Given the description of an element on the screen output the (x, y) to click on. 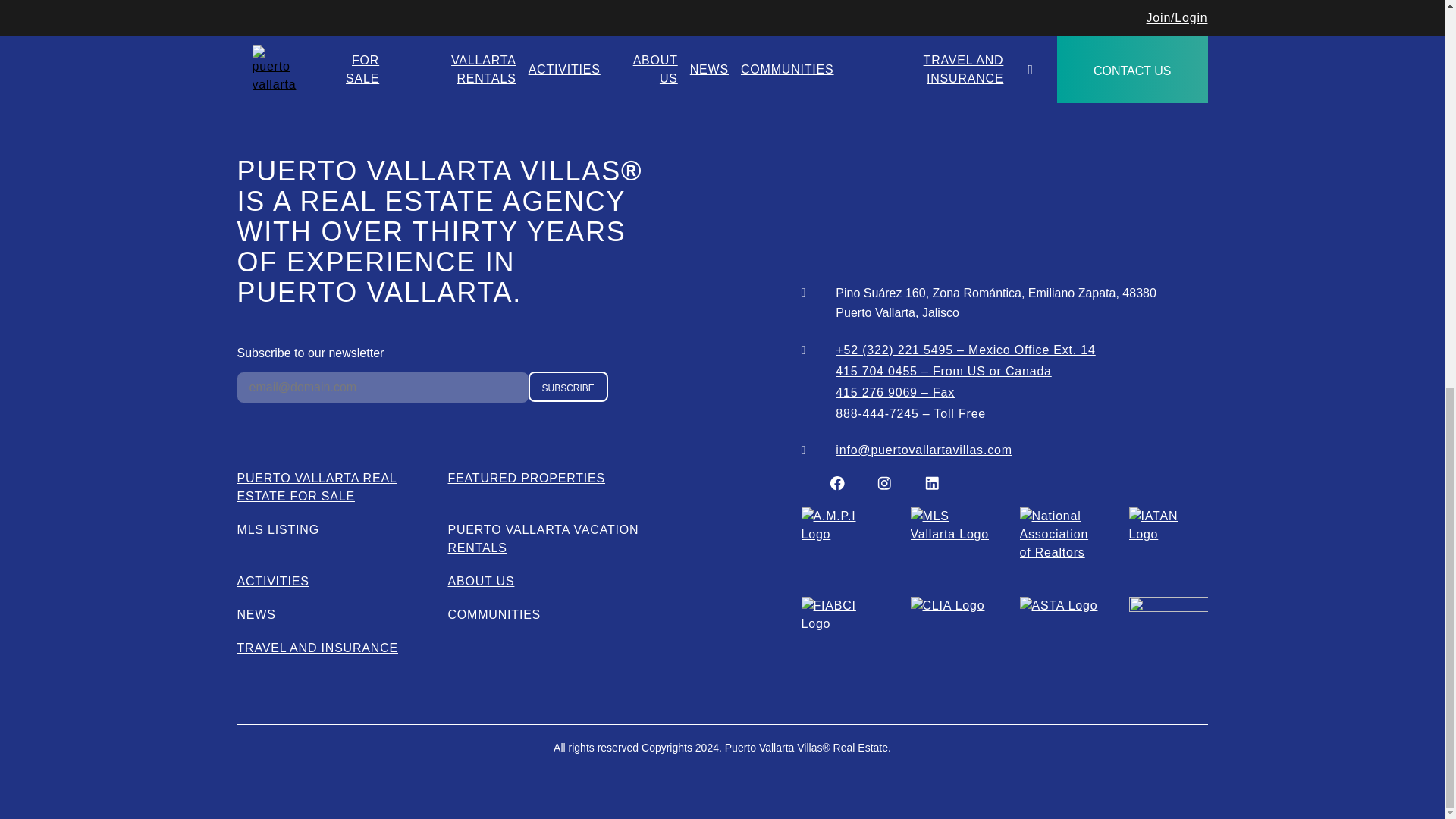
FEATURED PROPERTIES (525, 477)
Subscribe (567, 386)
TRAVEL AND INSURANCE (316, 647)
ACTIVITIES (271, 581)
ABOUT US (479, 581)
PUERTO VALLARTA REAL ESTATE FOR SALE (315, 486)
Subscribe (567, 386)
NEWS (255, 614)
COMMUNITIES (493, 614)
PUERTO VALLARTA VACATION RENTALS (542, 538)
LinkedIn (931, 483)
Facebook (836, 483)
Instagram (884, 483)
MLS LISTING (276, 529)
